Given the description of an element on the screen output the (x, y) to click on. 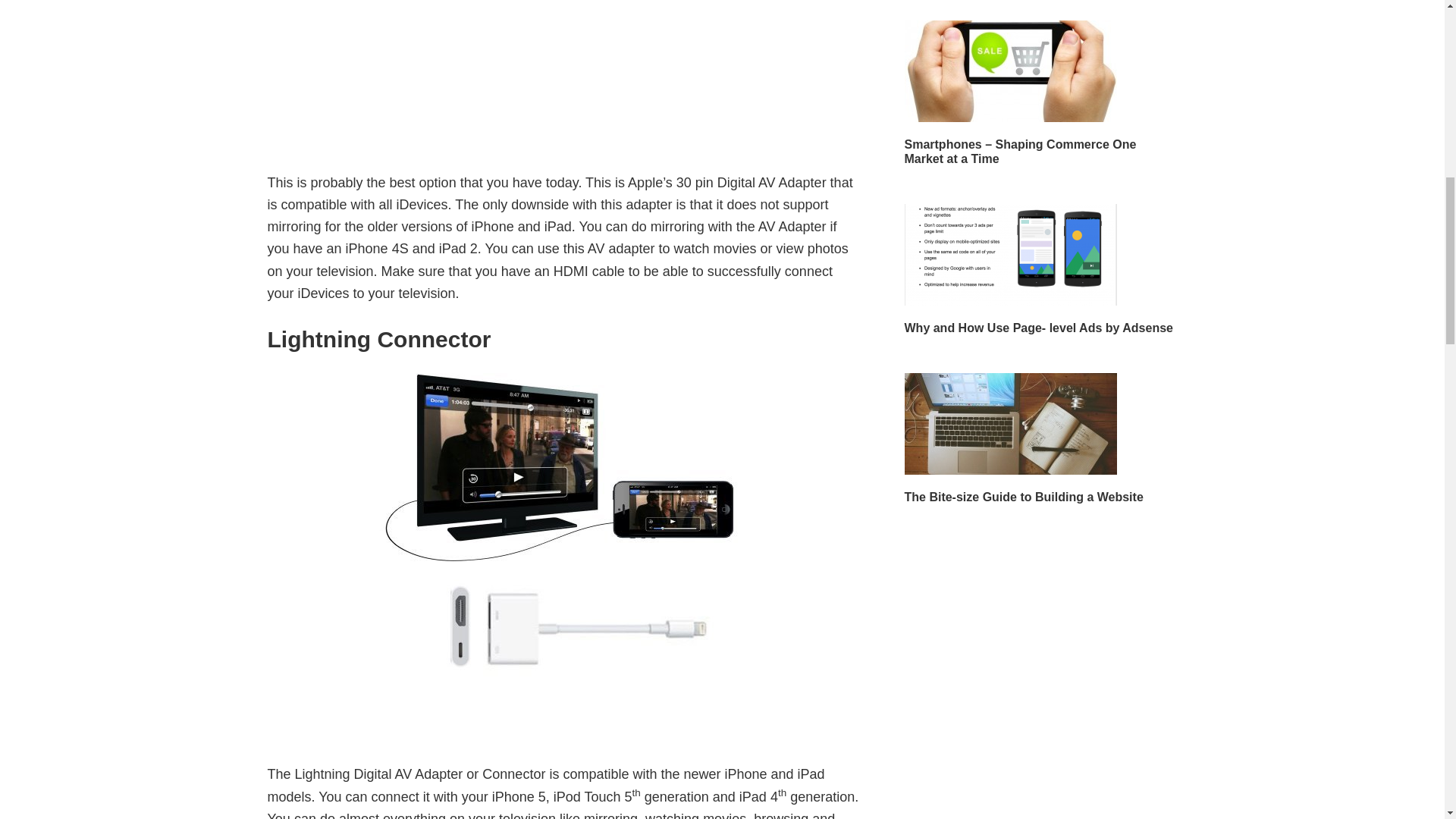
Advertisement (562, 63)
Why and How Use Page- level Ads by Adsense (1038, 327)
The Bite-size Guide to Building a Website (1023, 496)
